Given the description of an element on the screen output the (x, y) to click on. 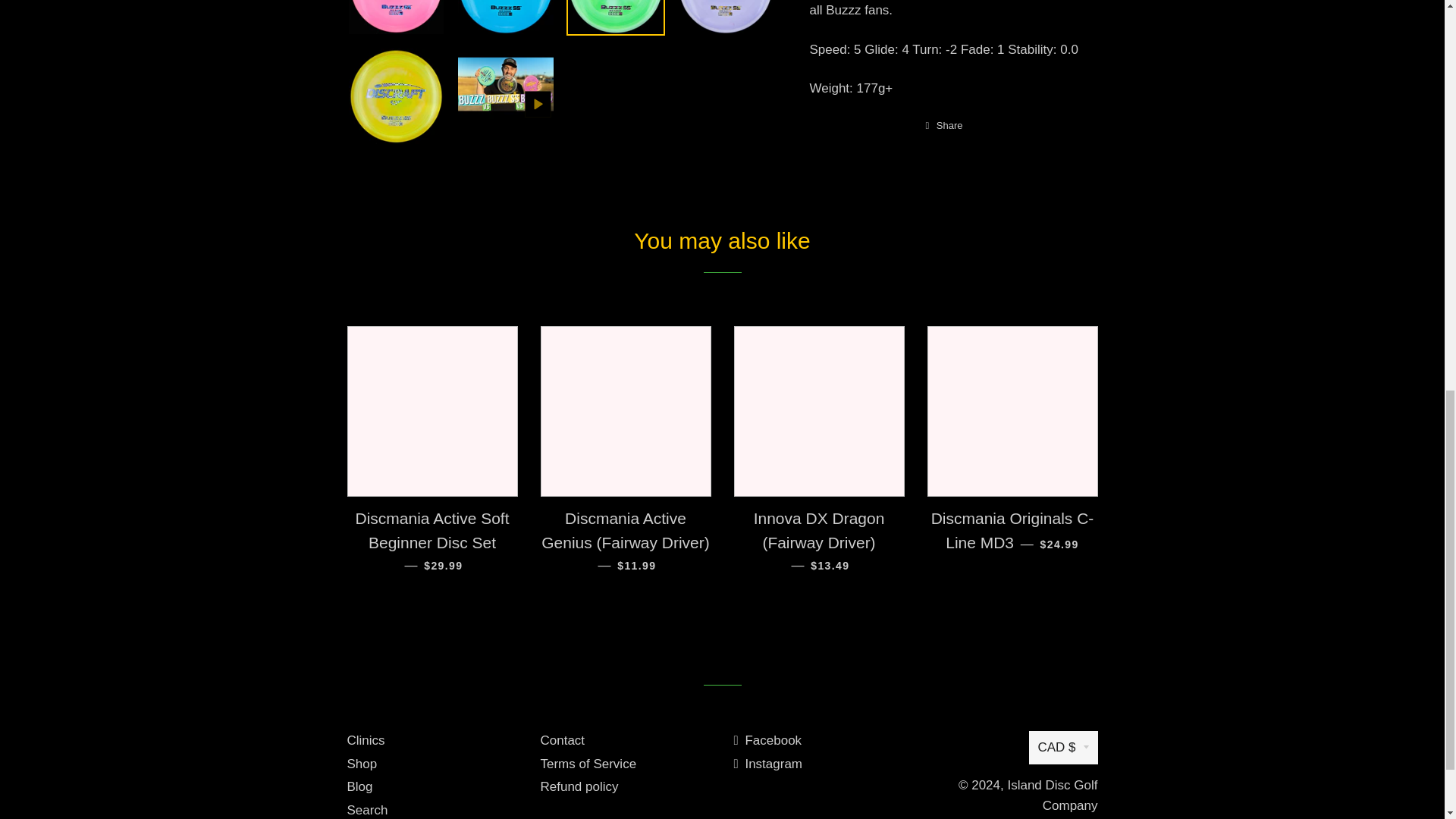
Island Disc Golf Company on Facebook (767, 740)
Island Disc Golf Company on Instagram (768, 763)
Share on Facebook (943, 125)
